Given the description of an element on the screen output the (x, y) to click on. 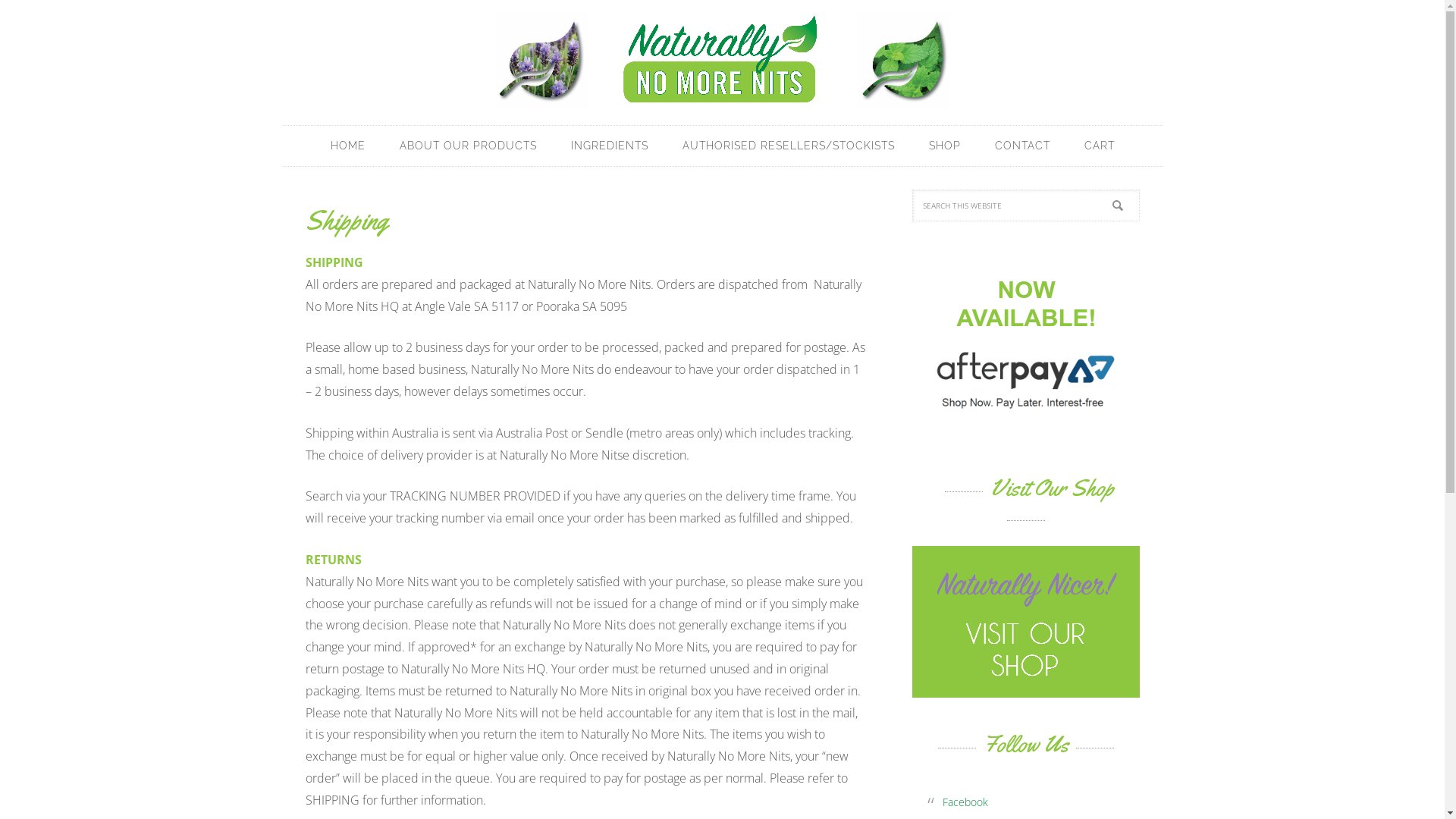
SHOP Element type: text (944, 145)
AUTHORISED RESELLERS/STOCKISTS Element type: text (788, 145)
INGREDIENTS Element type: text (608, 145)
ABOUT OUR PRODUCTS Element type: text (467, 145)
Search Element type: text (1139, 188)
CART Element type: text (1099, 145)
CONTACT Element type: text (1022, 145)
Visit Our Shop Element type: hover (1025, 690)
Facebook Element type: text (964, 801)
HOME Element type: text (347, 145)
Naturally No More Nits Element type: text (721, 60)
